Given the description of an element on the screen output the (x, y) to click on. 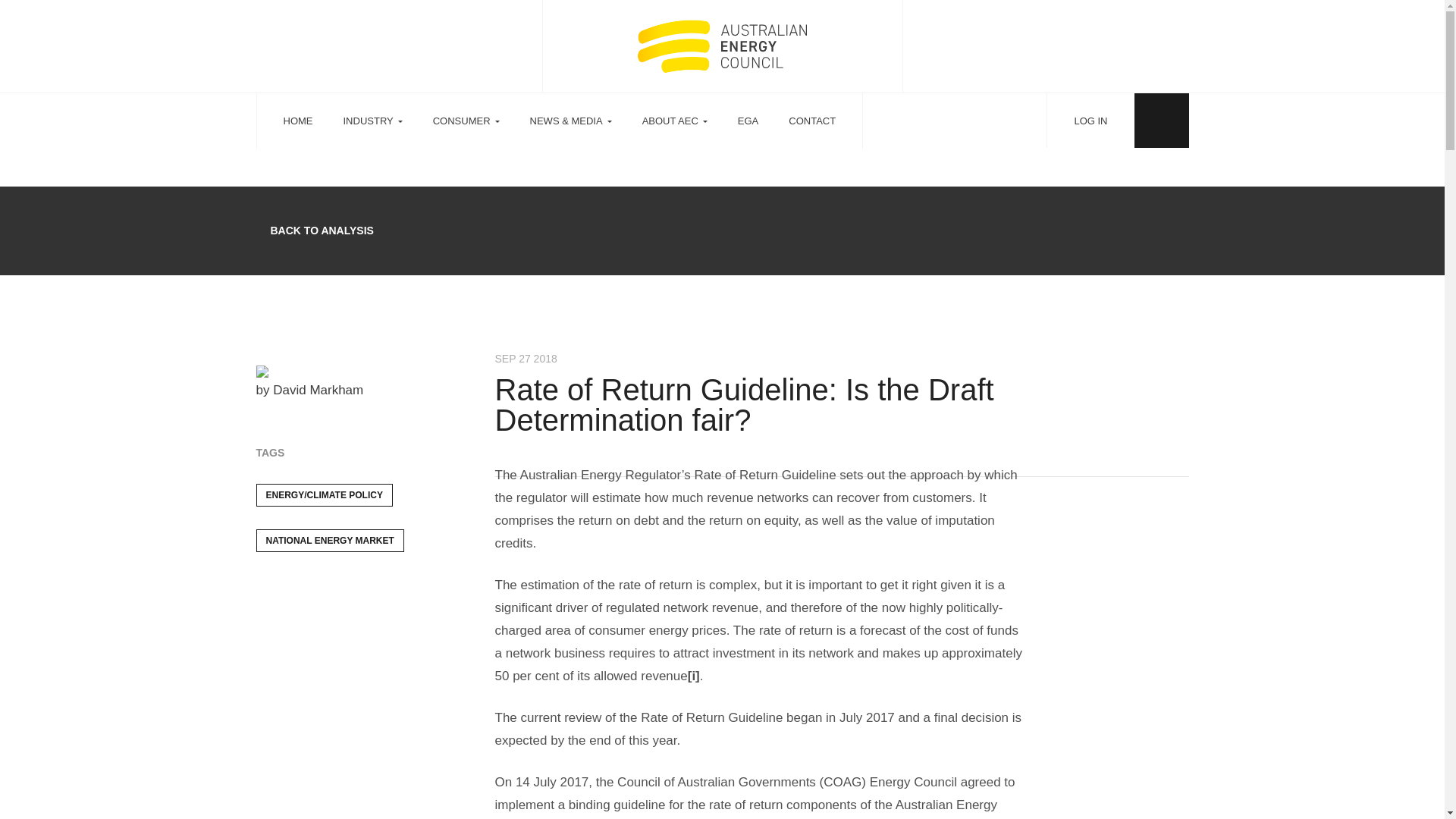
INDUSTRY (371, 120)
HOME (298, 120)
CONSUMER (466, 120)
ABOUT AEC (674, 120)
